Given the description of an element on the screen output the (x, y) to click on. 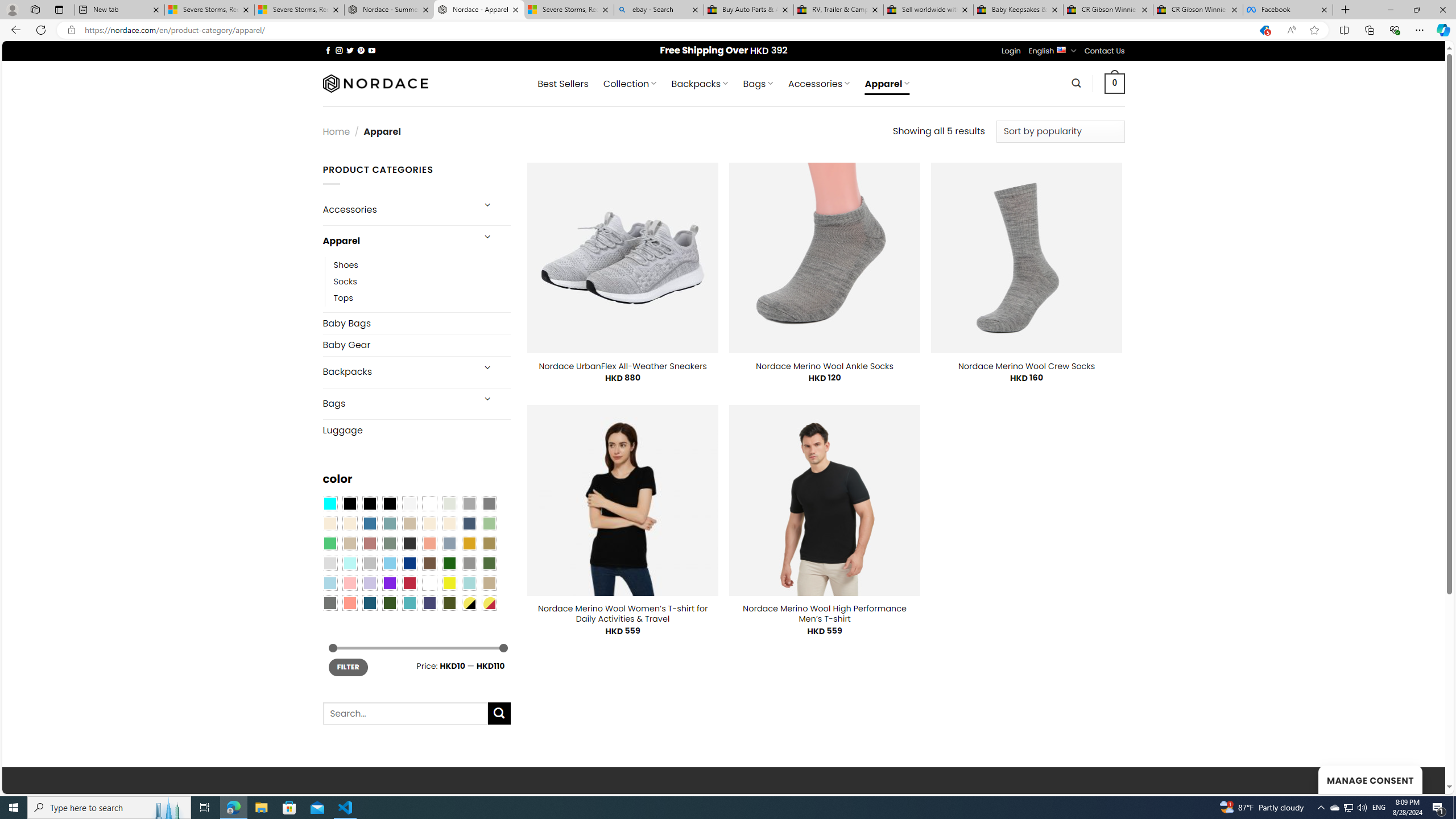
Navy Blue (408, 562)
All Gray (488, 503)
Gold (468, 542)
Silver (369, 562)
Light Blue (329, 582)
Yellow-Black (468, 602)
Shop order (1060, 131)
Coral (429, 542)
Blue Sage (389, 522)
